Given the description of an element on the screen output the (x, y) to click on. 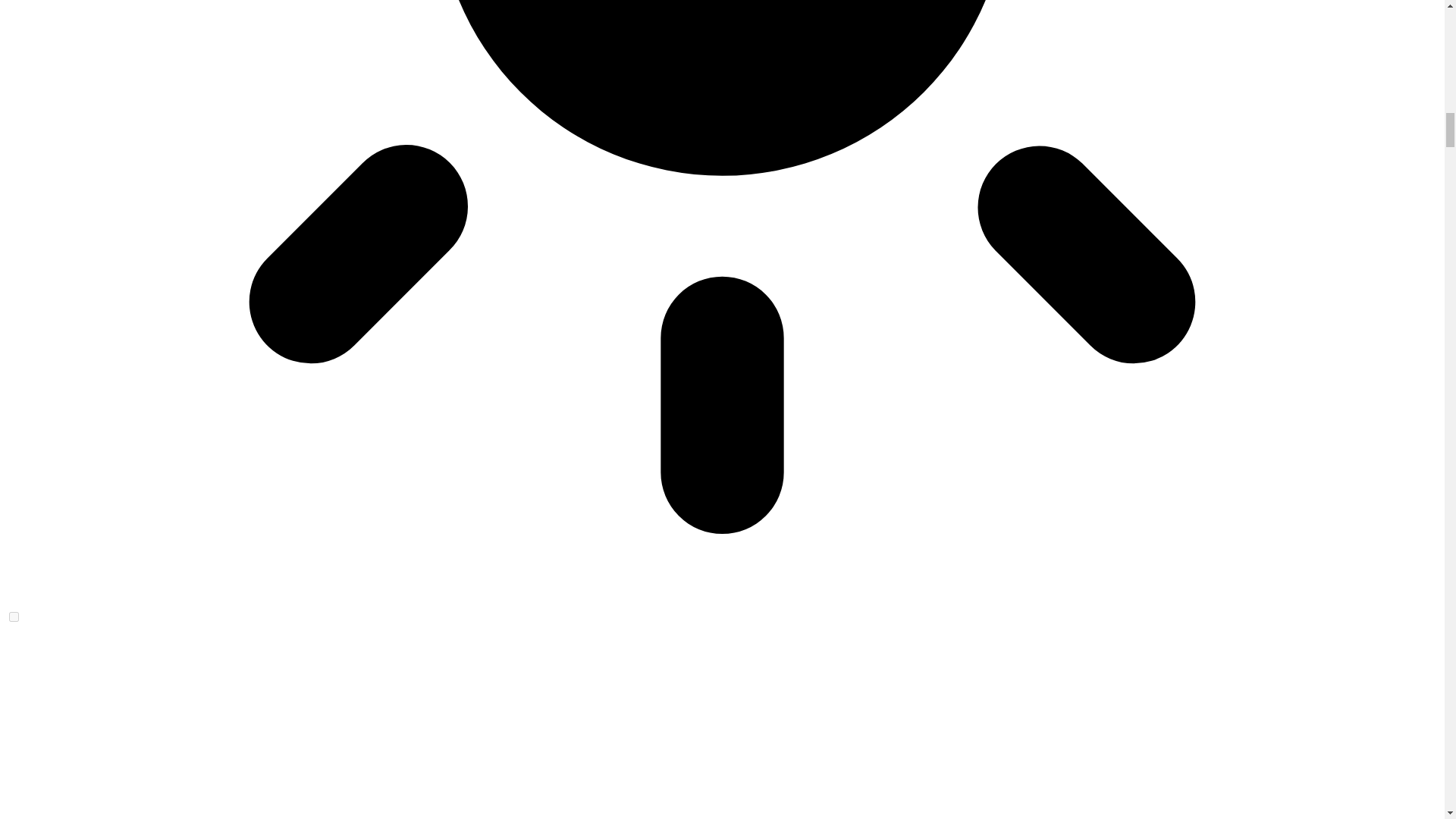
on (13, 616)
